Given the description of an element on the screen output the (x, y) to click on. 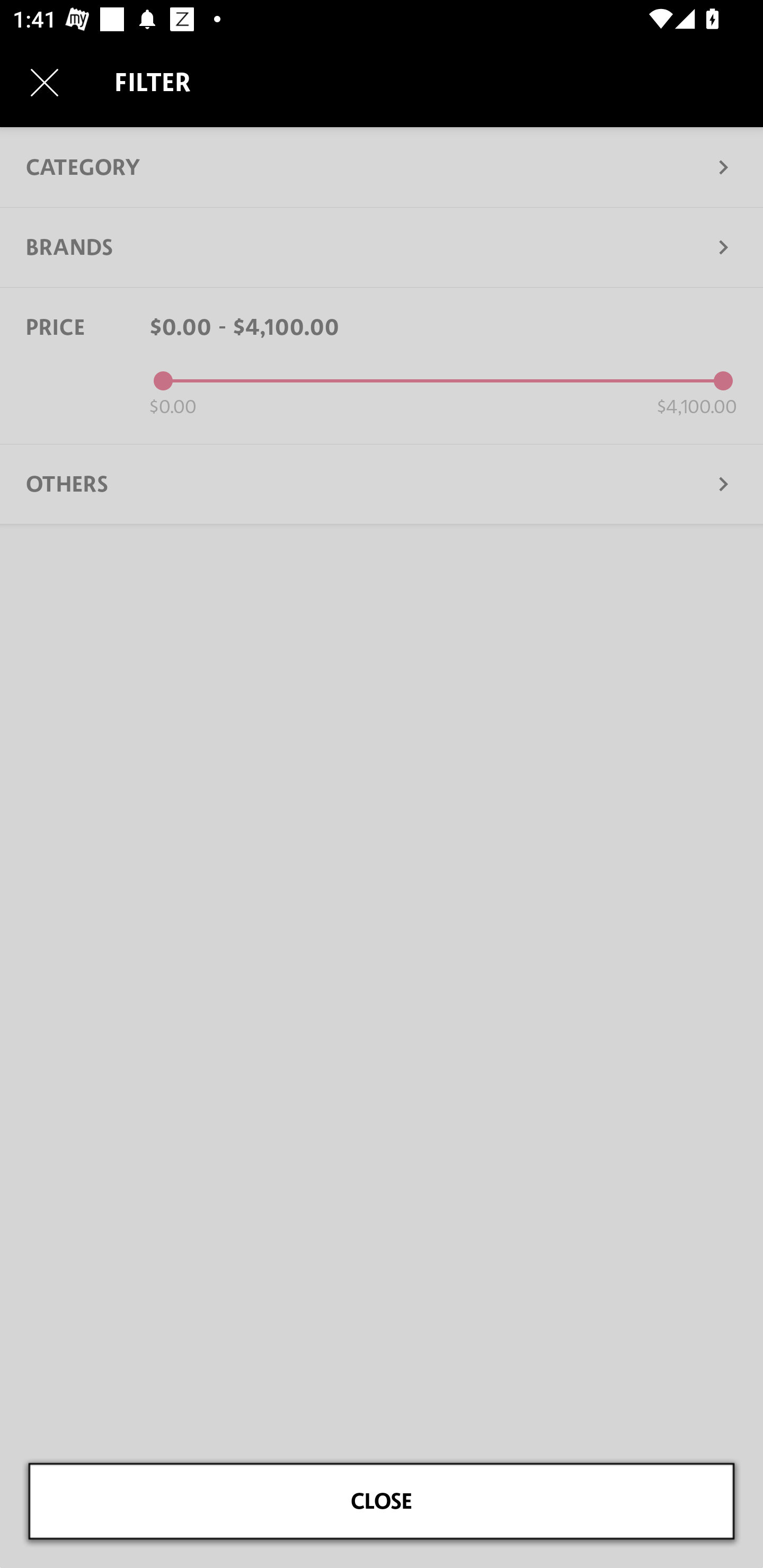
Navigate up (44, 82)
CLOSE (381, 1501)
